Given the description of an element on the screen output the (x, y) to click on. 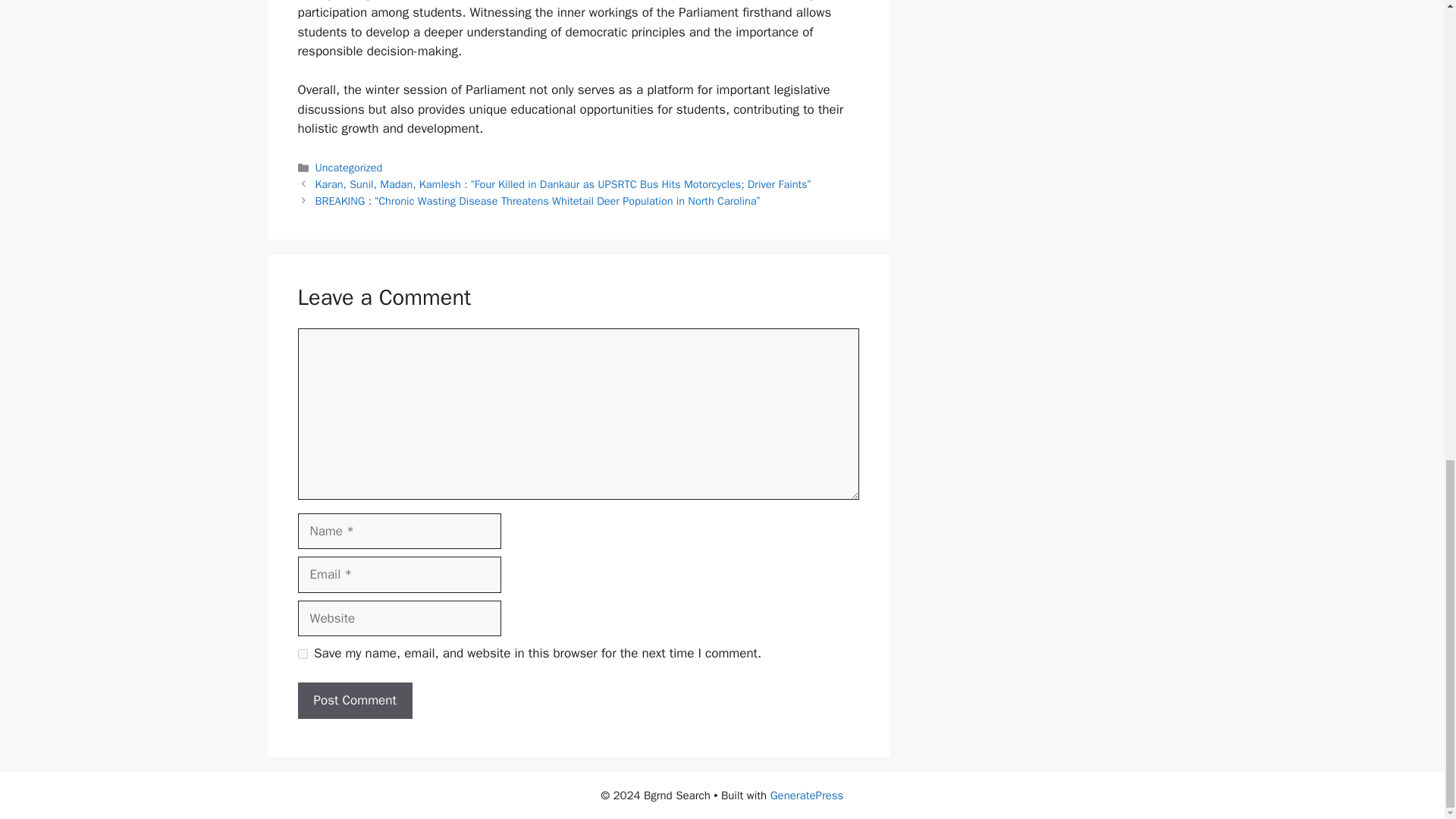
Post Comment (354, 700)
Uncategorized (348, 167)
Post Comment (354, 700)
GeneratePress (807, 795)
yes (302, 654)
